Given the description of an element on the screen output the (x, y) to click on. 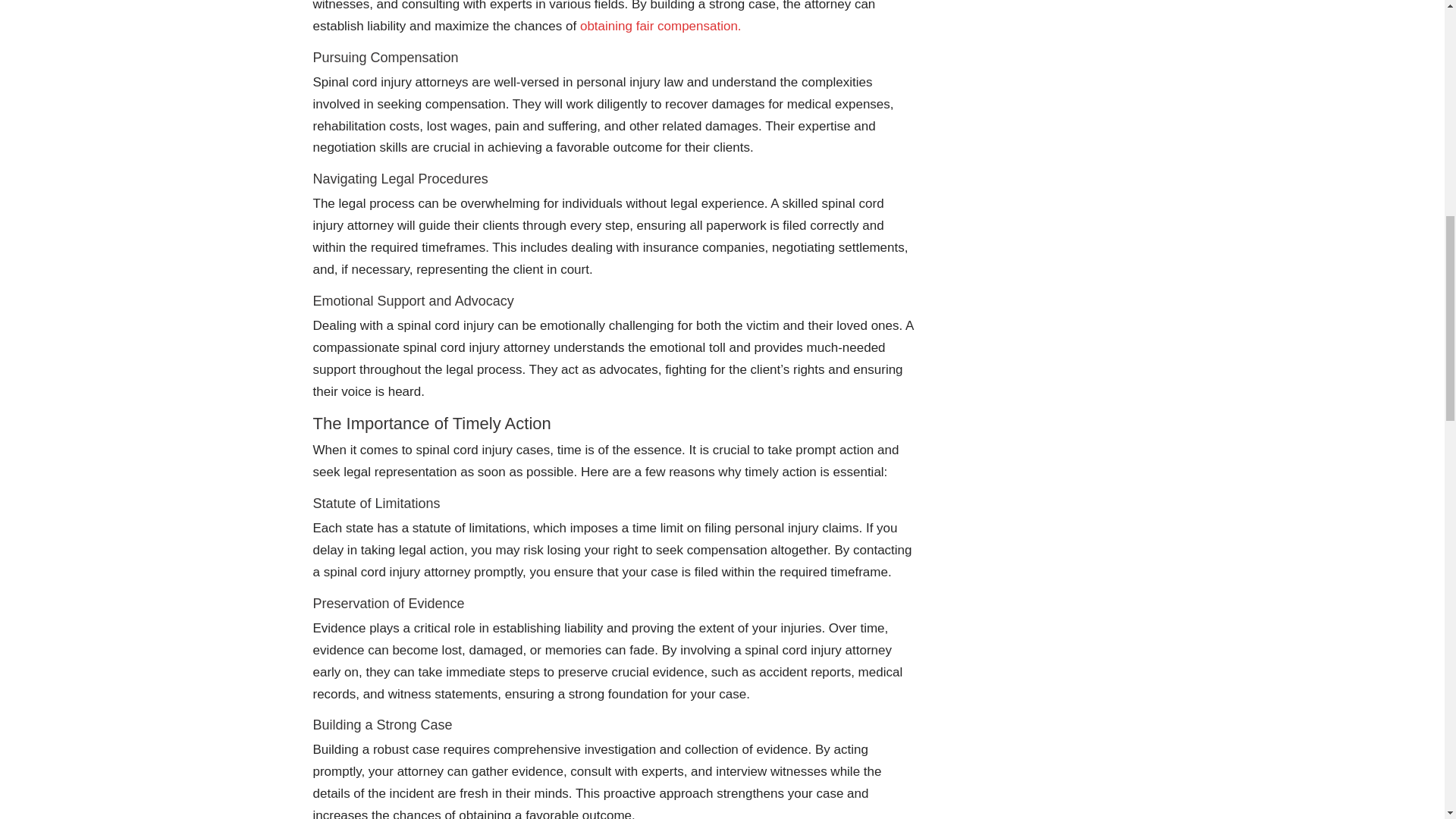
obtaining fair compensation. (660, 25)
